Given the description of an element on the screen output the (x, y) to click on. 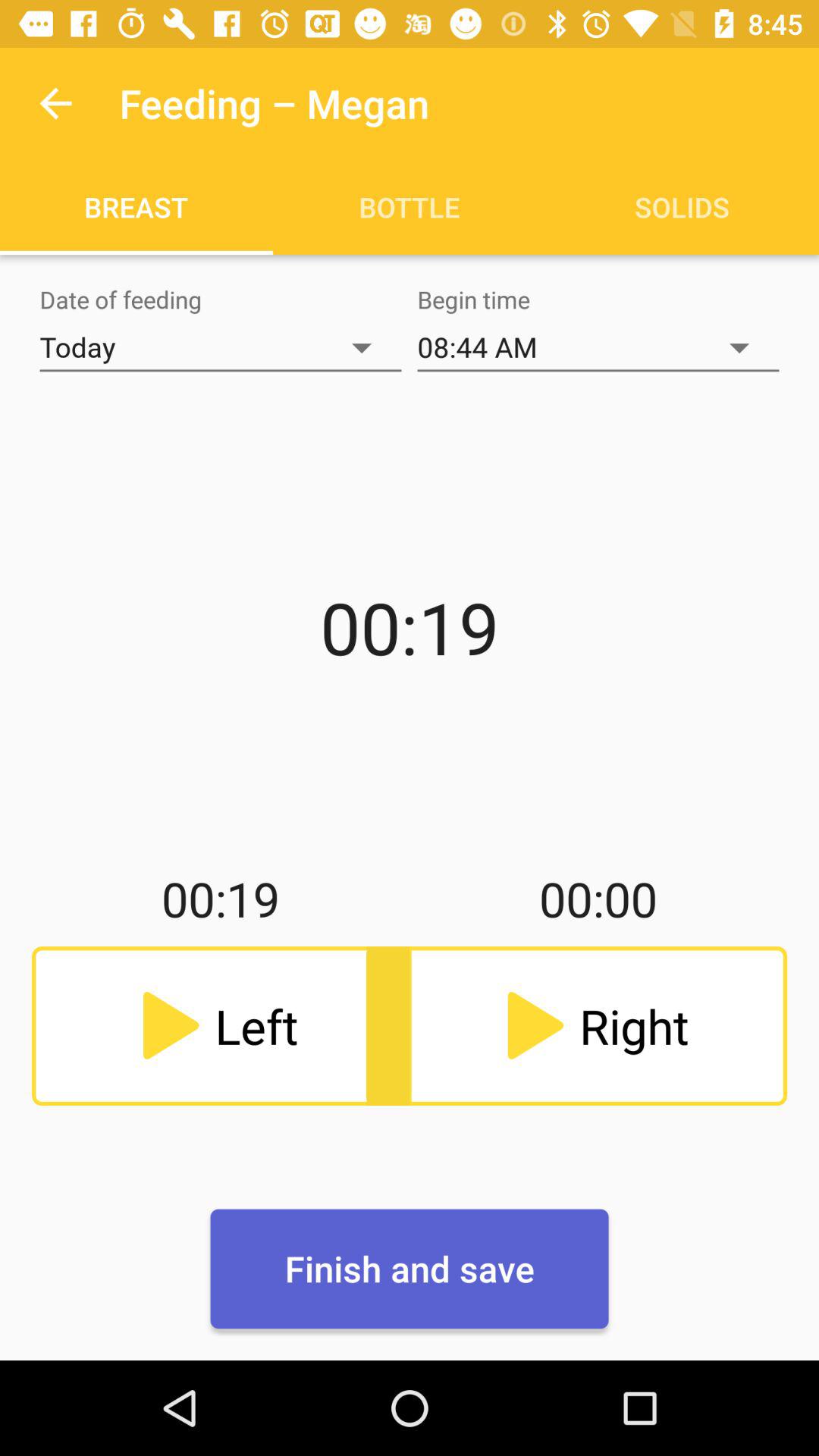
turn on the icon to the right of the today icon (598, 347)
